Given the description of an element on the screen output the (x, y) to click on. 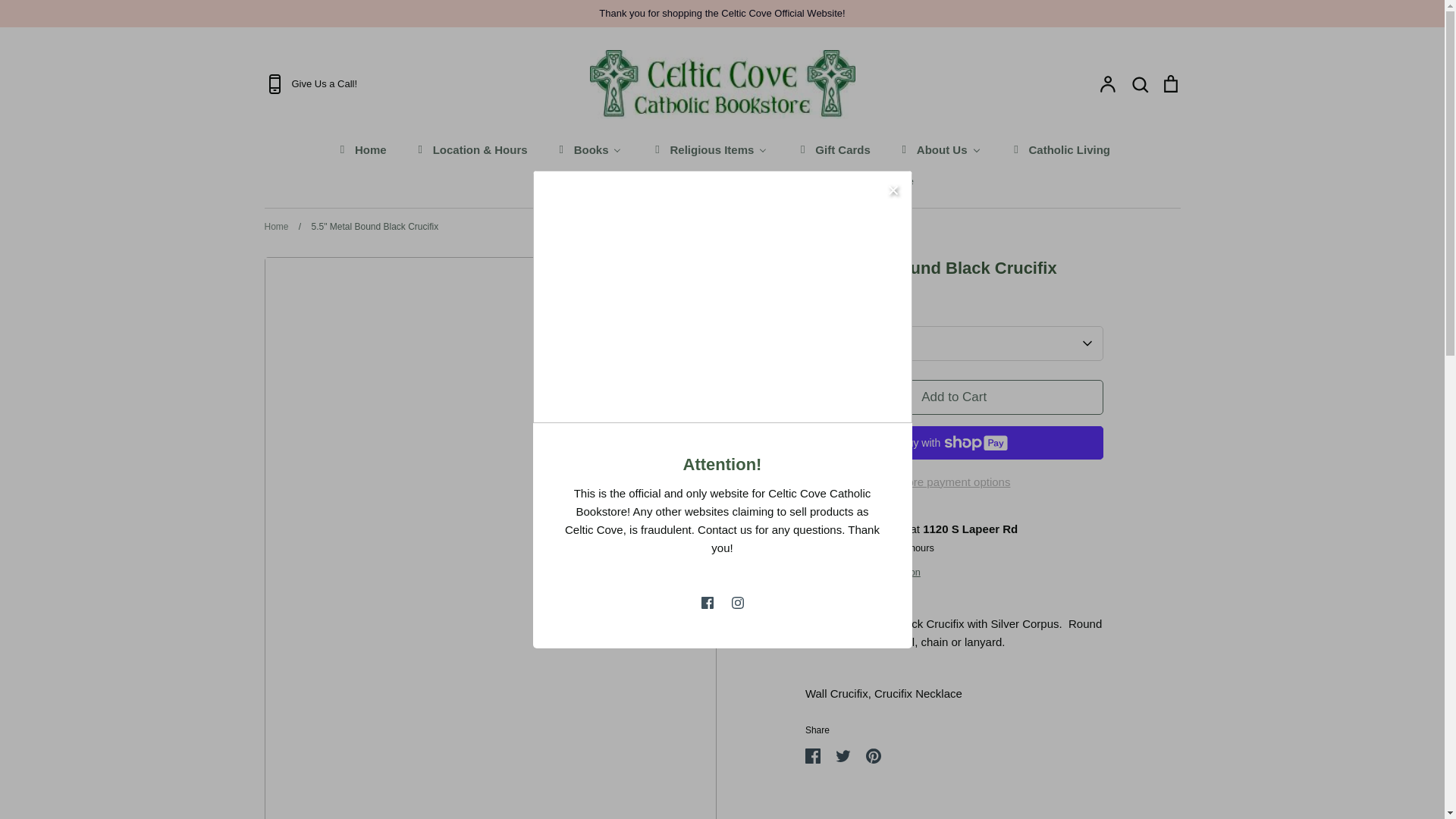
Home (360, 149)
Search (1139, 84)
Books (588, 149)
Account (1107, 84)
Cart (1169, 84)
Give Us a Call! (414, 84)
